Given the description of an element on the screen output the (x, y) to click on. 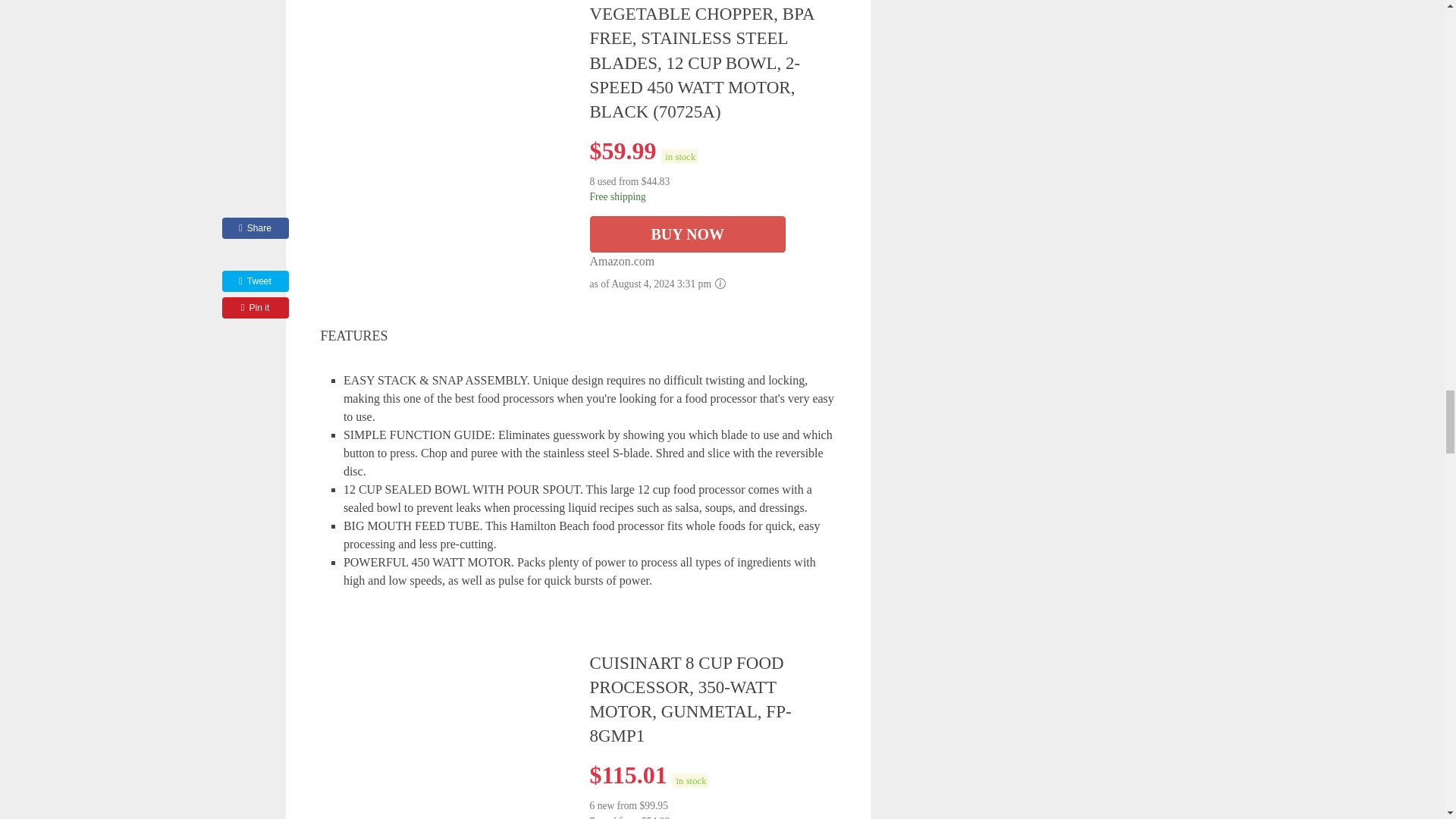
Last updated on August 4, 2024 3:31 pm (679, 156)
